Given the description of an element on the screen output the (x, y) to click on. 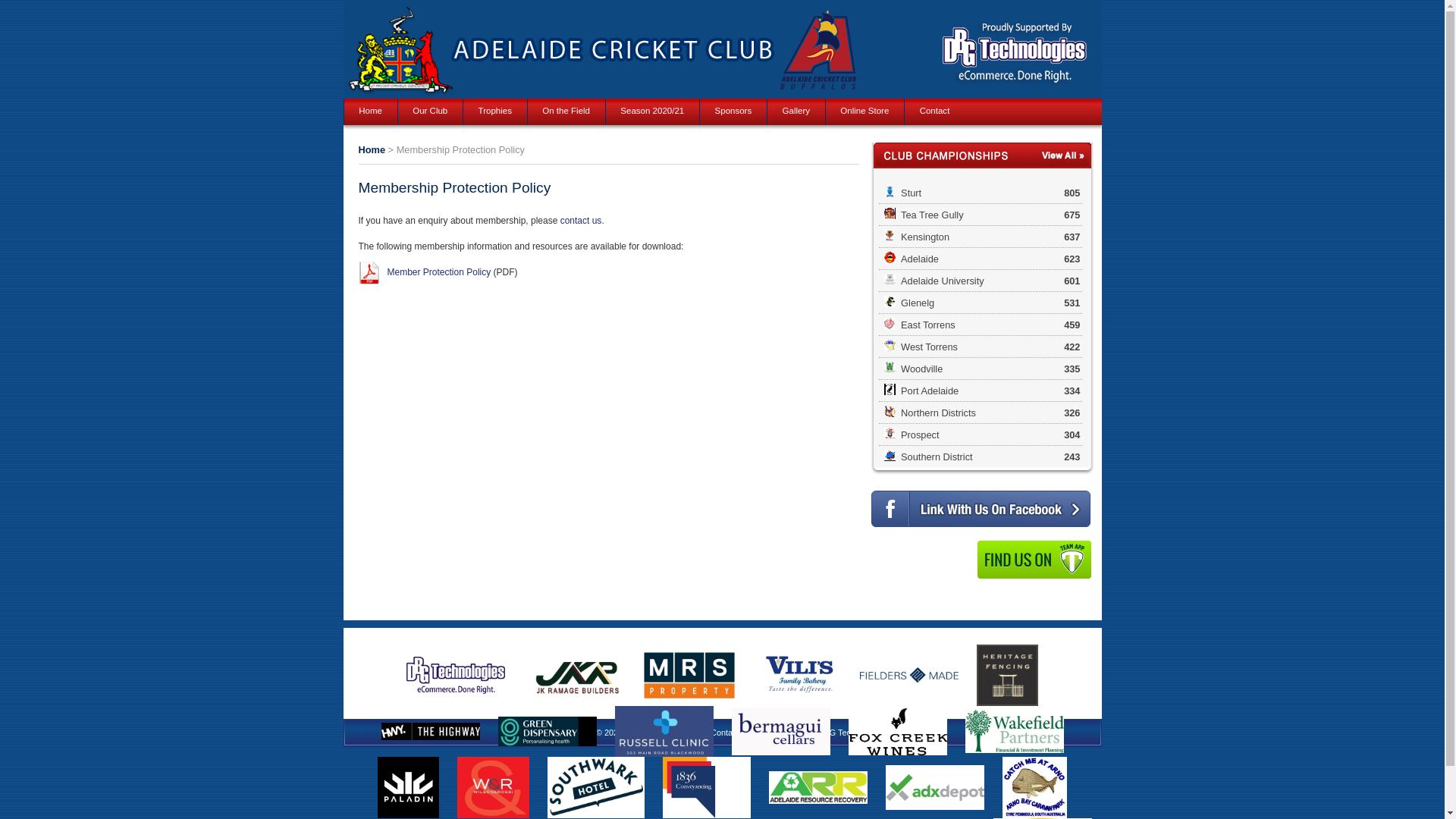
Contact Us Element type: text (730, 732)
Home Element type: text (370, 110)
Season 2020/21 Element type: text (652, 110)
Member Protection Policy Element type: text (438, 271)
Sponsors Element type: text (732, 110)
Website Design DBG Technologies Element type: text (822, 732)
Our Club Element type: text (430, 110)
Find us on Team App Element type: hover (1033, 559)
On the Field Element type: text (566, 110)
Gallery Element type: text (796, 110)
Online Store Element type: text (864, 110)
Trophies Element type: text (495, 110)
Home Element type: text (371, 149)
contact us Element type: text (581, 220)
Contact Element type: text (934, 110)
